Given the description of an element on the screen output the (x, y) to click on. 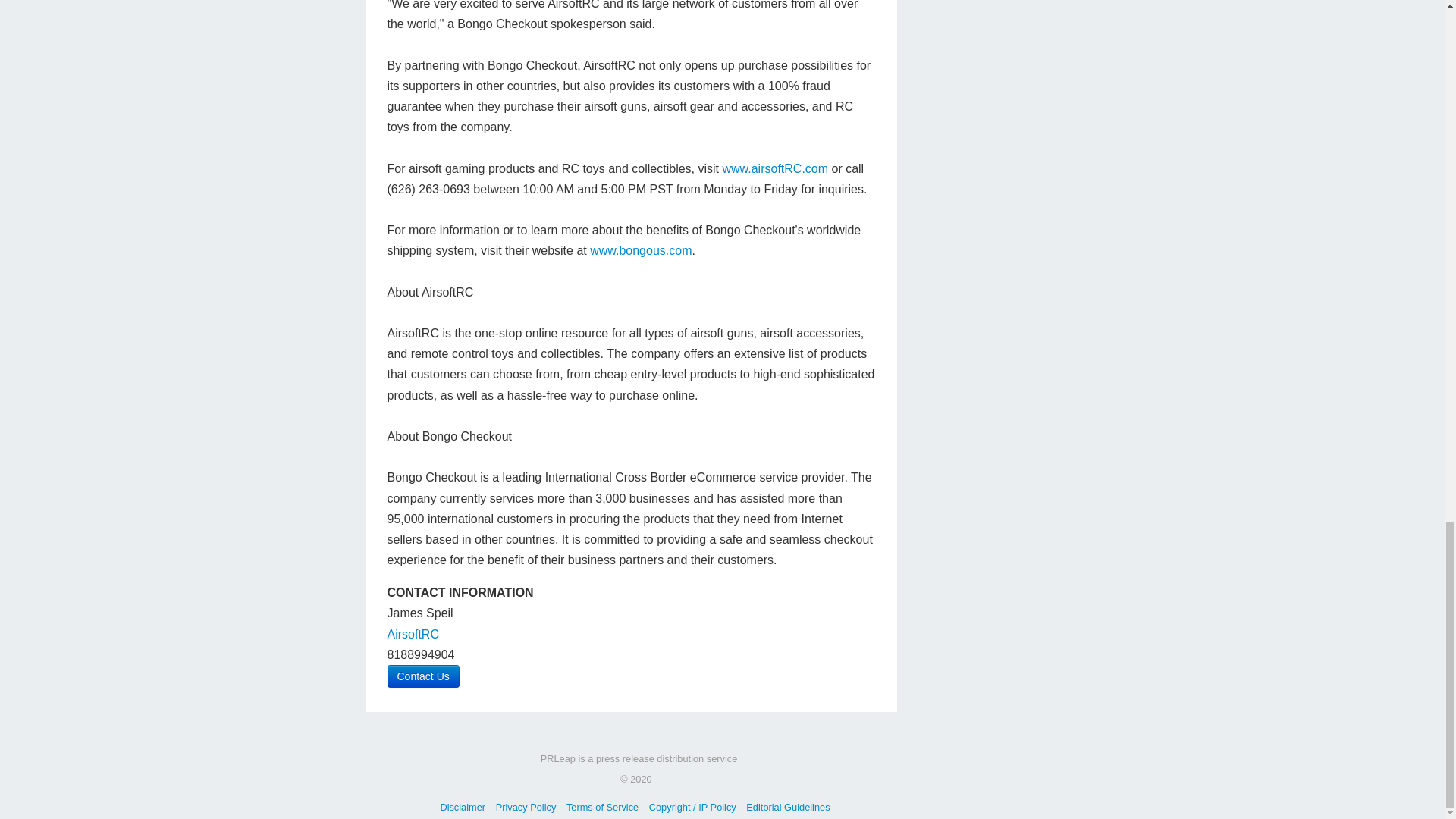
Disclaimer (461, 807)
AirsoftRC (412, 634)
Terms of Service (602, 807)
www.airsoftRC.com (775, 168)
Contact Us (422, 676)
Editorial Guidelines (787, 807)
Privacy Policy (526, 807)
www.bongous.com (640, 250)
